Given the description of an element on the screen output the (x, y) to click on. 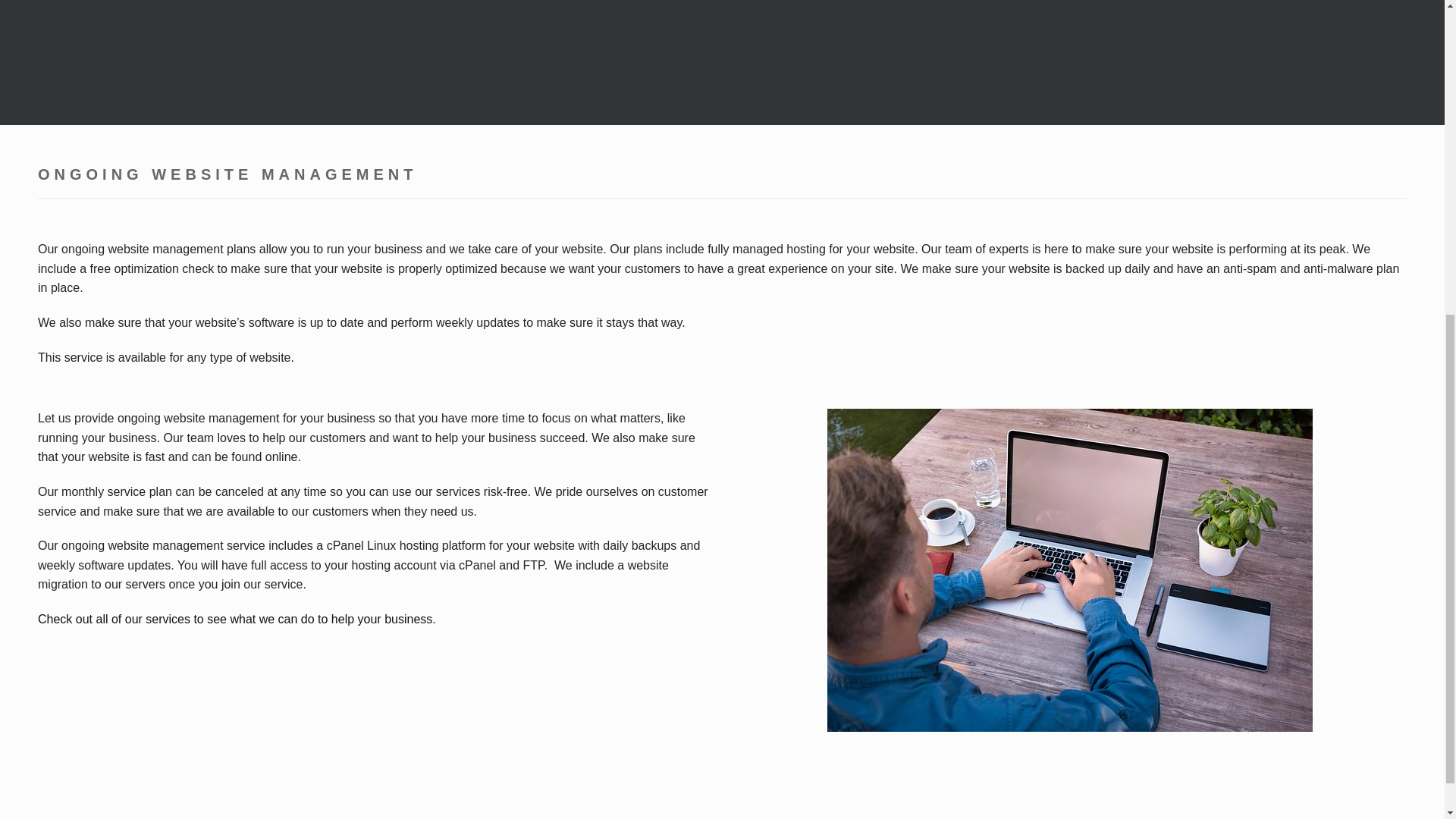
Privacy Policy (1324, 269)
Sitemap (1387, 269)
Terms and Conditions (1230, 269)
